Given the description of an element on the screen output the (x, y) to click on. 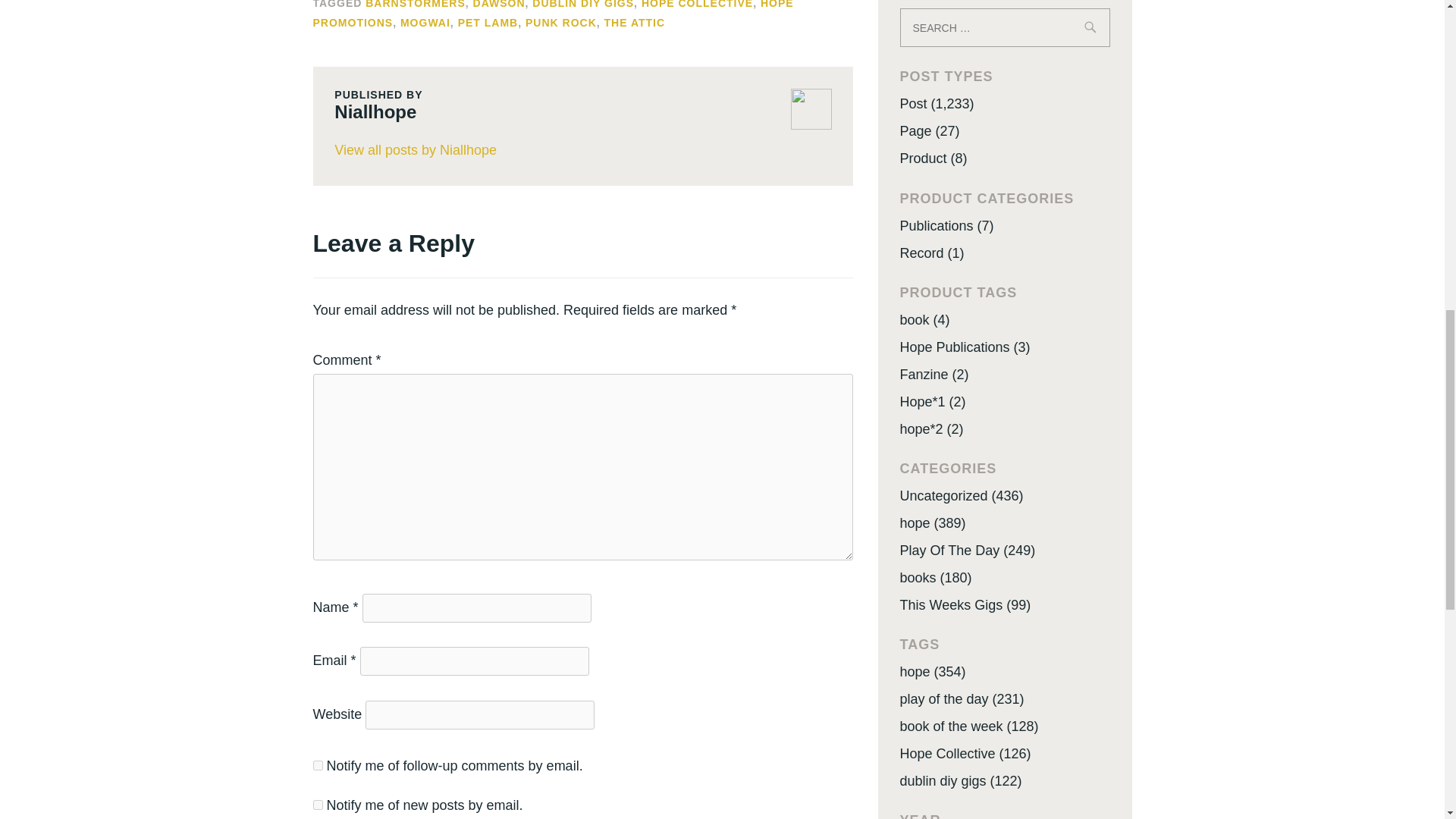
BARNSTORMERS (415, 4)
Search for: (1004, 27)
subscribe (317, 765)
DAWSON (499, 4)
subscribe (317, 804)
